Given the description of an element on the screen output the (x, y) to click on. 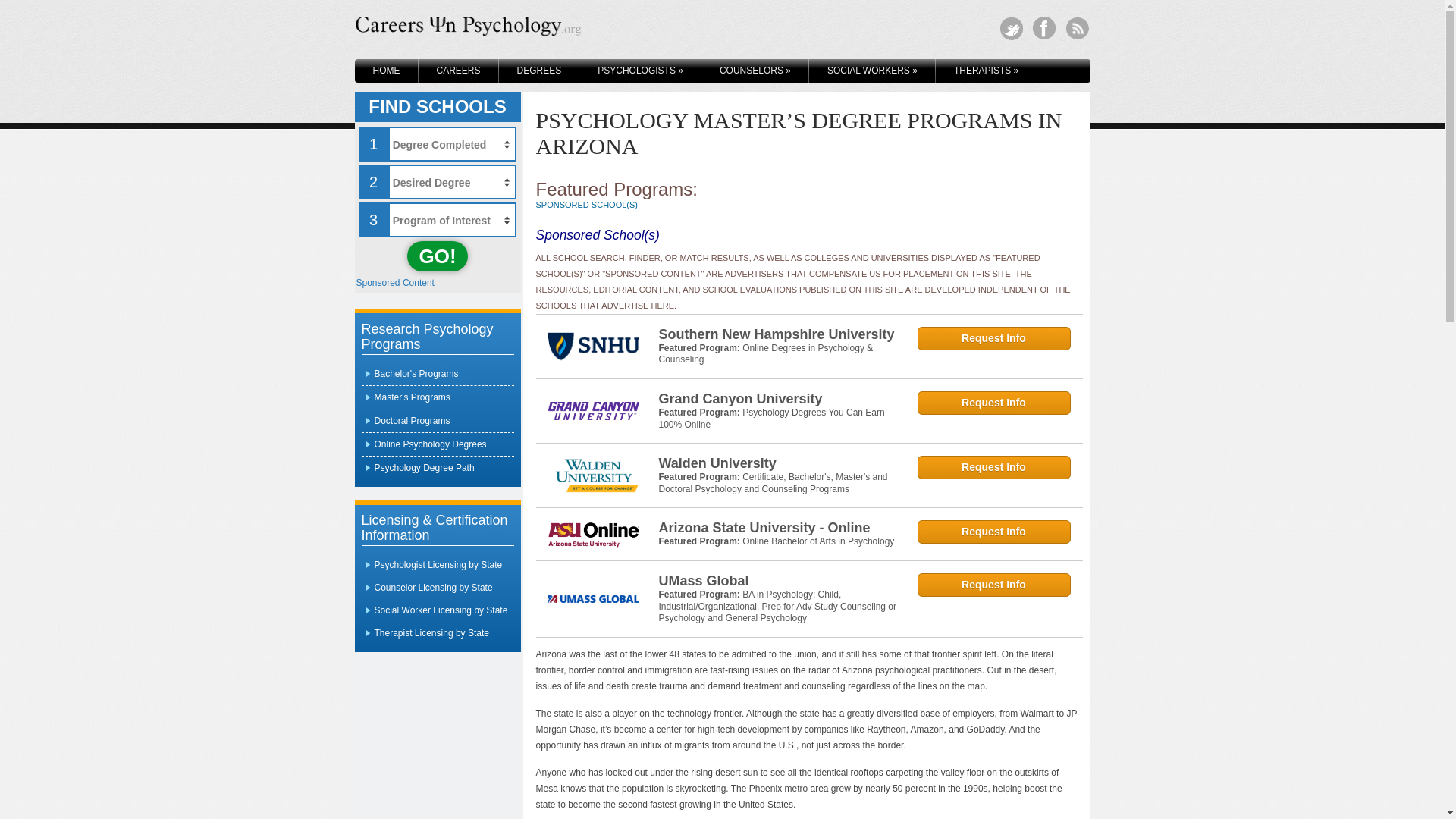
Request Info (993, 402)
Request Info (993, 338)
DEGREES (539, 70)
Walden University (777, 463)
HOME (387, 70)
CAREERS (459, 70)
Southern New Hampshire University (777, 334)
Grand Canyon University (777, 399)
